Given the description of an element on the screen output the (x, y) to click on. 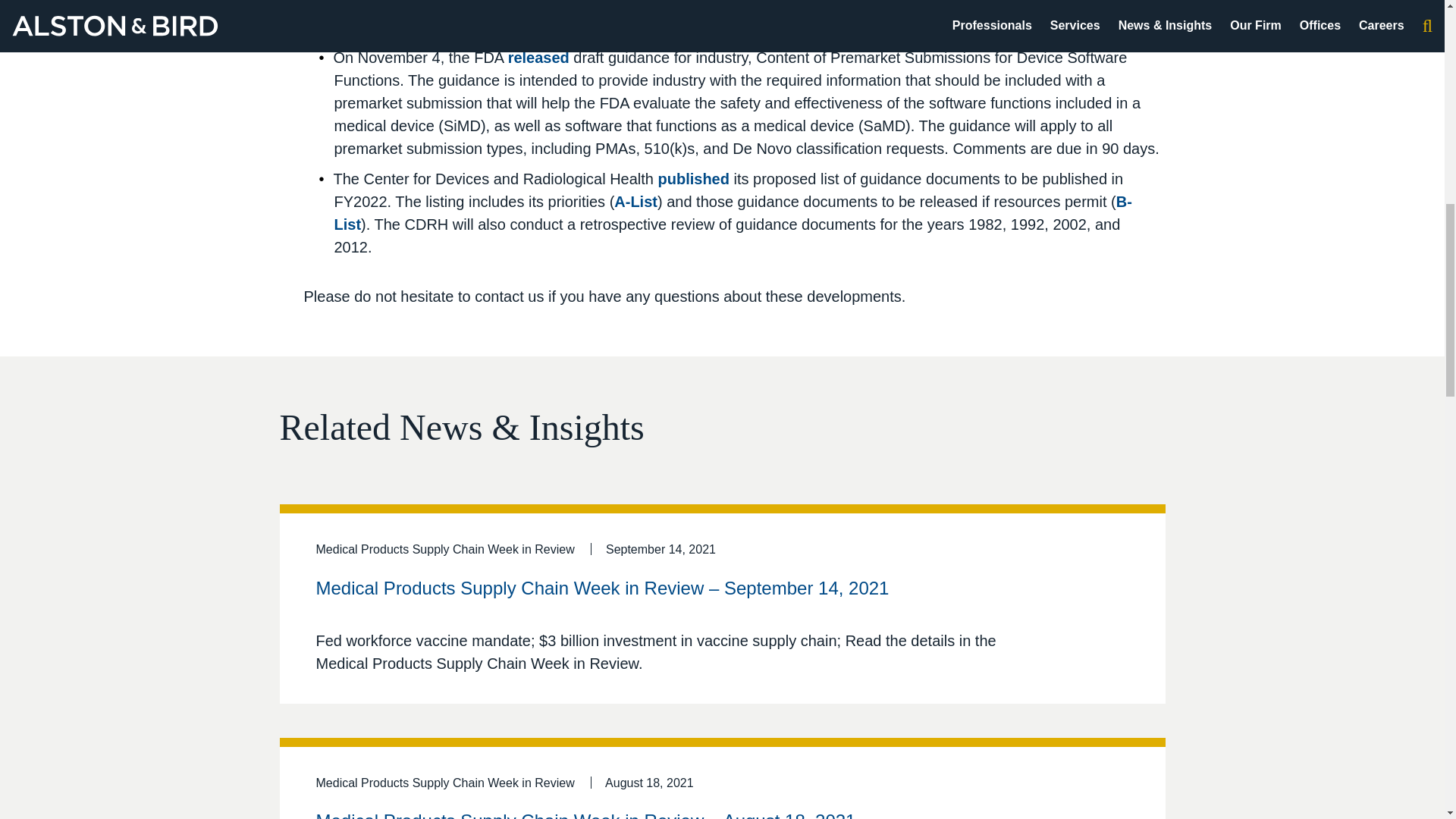
B-List (732, 212)
A-List (636, 201)
published (693, 178)
released (538, 57)
